Given the description of an element on the screen output the (x, y) to click on. 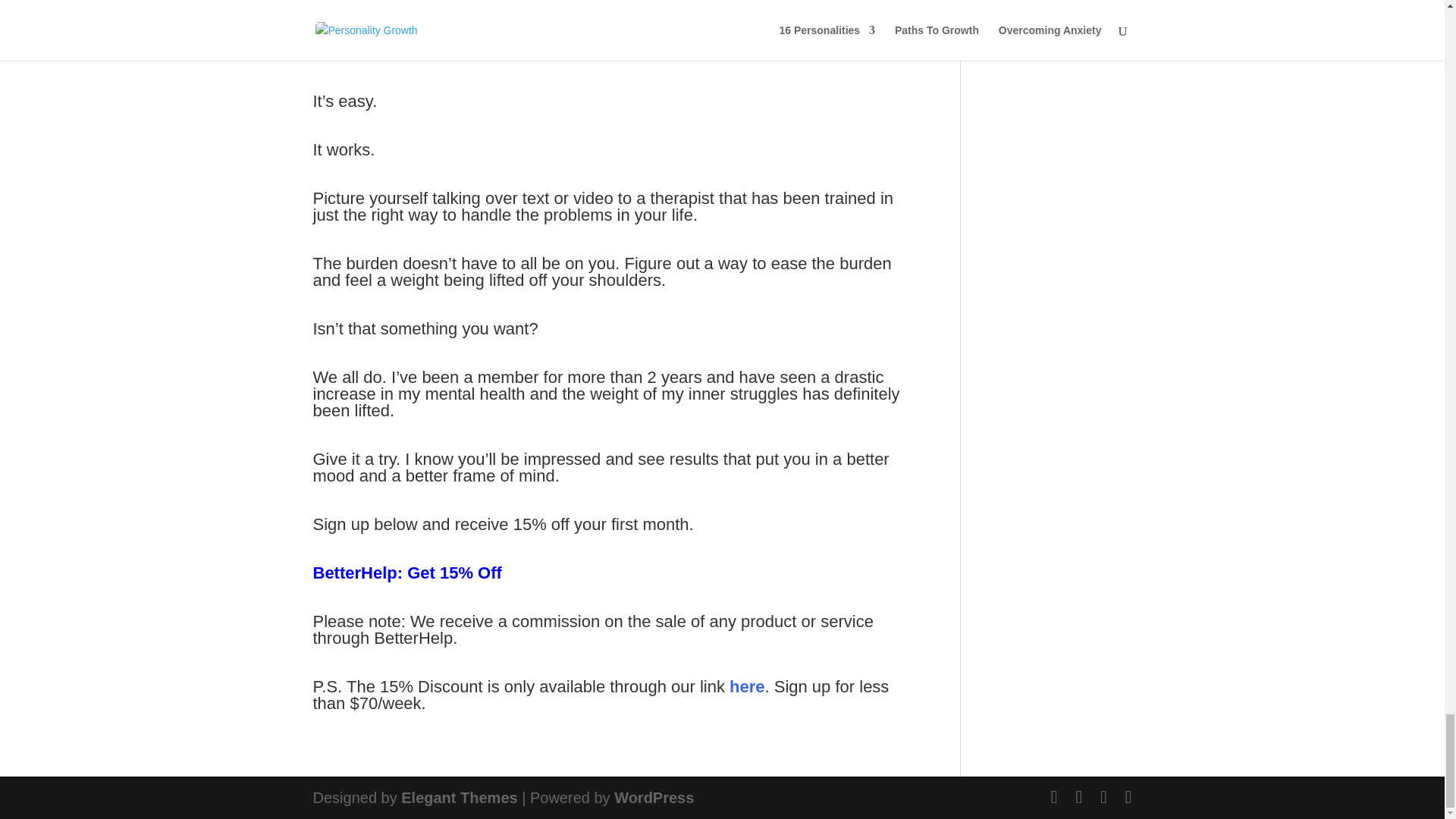
here (746, 686)
Premium WordPress Themes (458, 797)
